Given the description of an element on the screen output the (x, y) to click on. 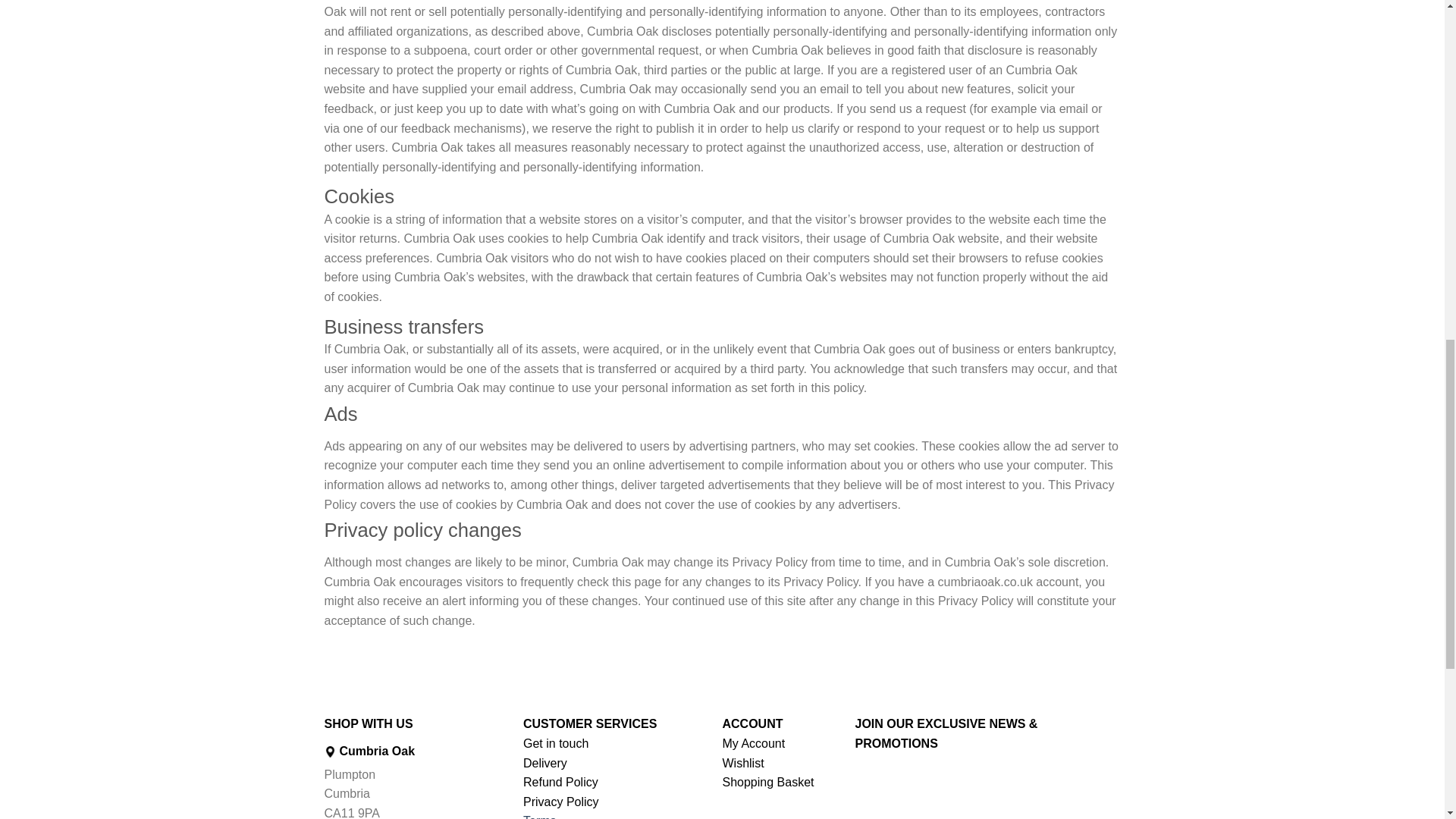
Privacy Policy (560, 801)
Wishlist (742, 762)
Refund Policy (560, 781)
Terms (539, 816)
Get in touch (555, 743)
Shopping Basket (767, 781)
Delivery (544, 762)
My Account (753, 743)
